Given the description of an element on the screen output the (x, y) to click on. 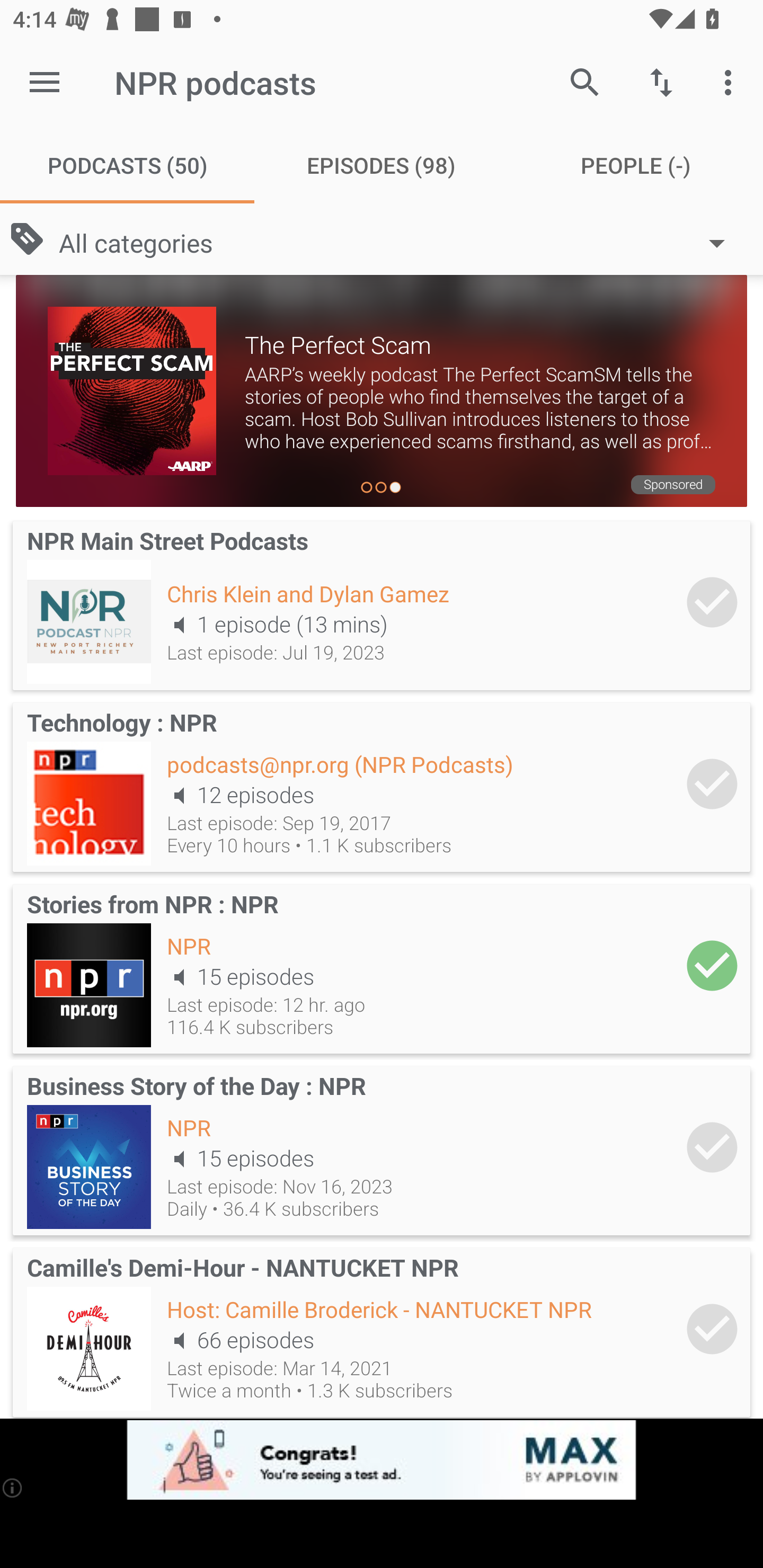
Open navigation sidebar (44, 82)
Search (585, 81)
Sort (661, 81)
More options (731, 81)
Episodes (98) EPISODES (98) (381, 165)
People (-) PEOPLE (-) (635, 165)
All categories (400, 242)
Add (711, 601)
Add (711, 783)
Add (711, 965)
Add (711, 1146)
Add (711, 1328)
app-monetization (381, 1459)
(i) (11, 1487)
